Given the description of an element on the screen output the (x, y) to click on. 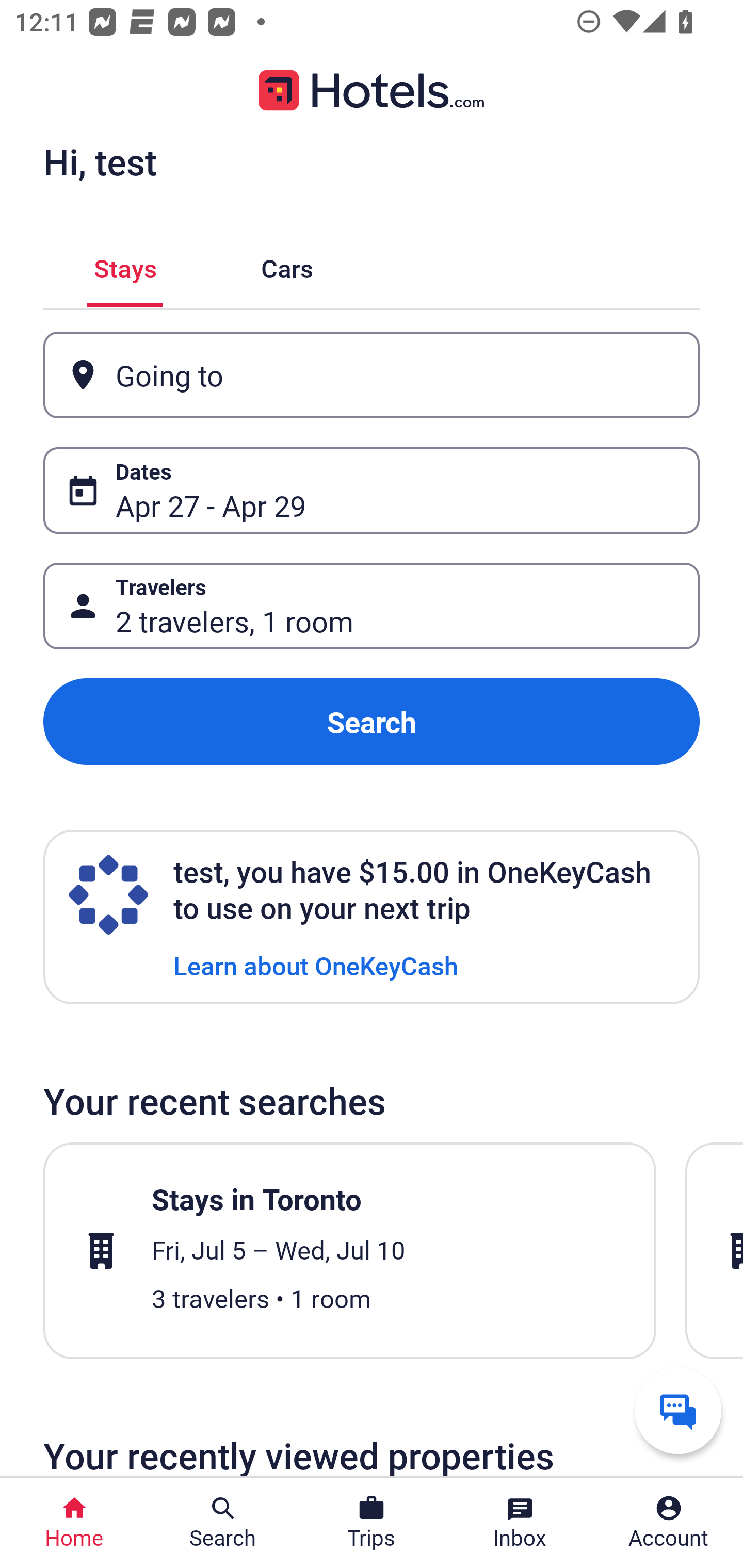
Hi, test (99, 161)
Cars (286, 265)
Going to Button (371, 375)
Dates Button Apr 27 - Apr 29 (371, 489)
Travelers Button 2 travelers, 1 room (371, 605)
Search (371, 721)
Learn about OneKeyCash Learn about OneKeyCash Link (315, 964)
Get help from a virtual agent (677, 1410)
Search Search Button (222, 1522)
Trips Trips Button (371, 1522)
Inbox Inbox Button (519, 1522)
Account Profile. Button (668, 1522)
